Given the description of an element on the screen output the (x, y) to click on. 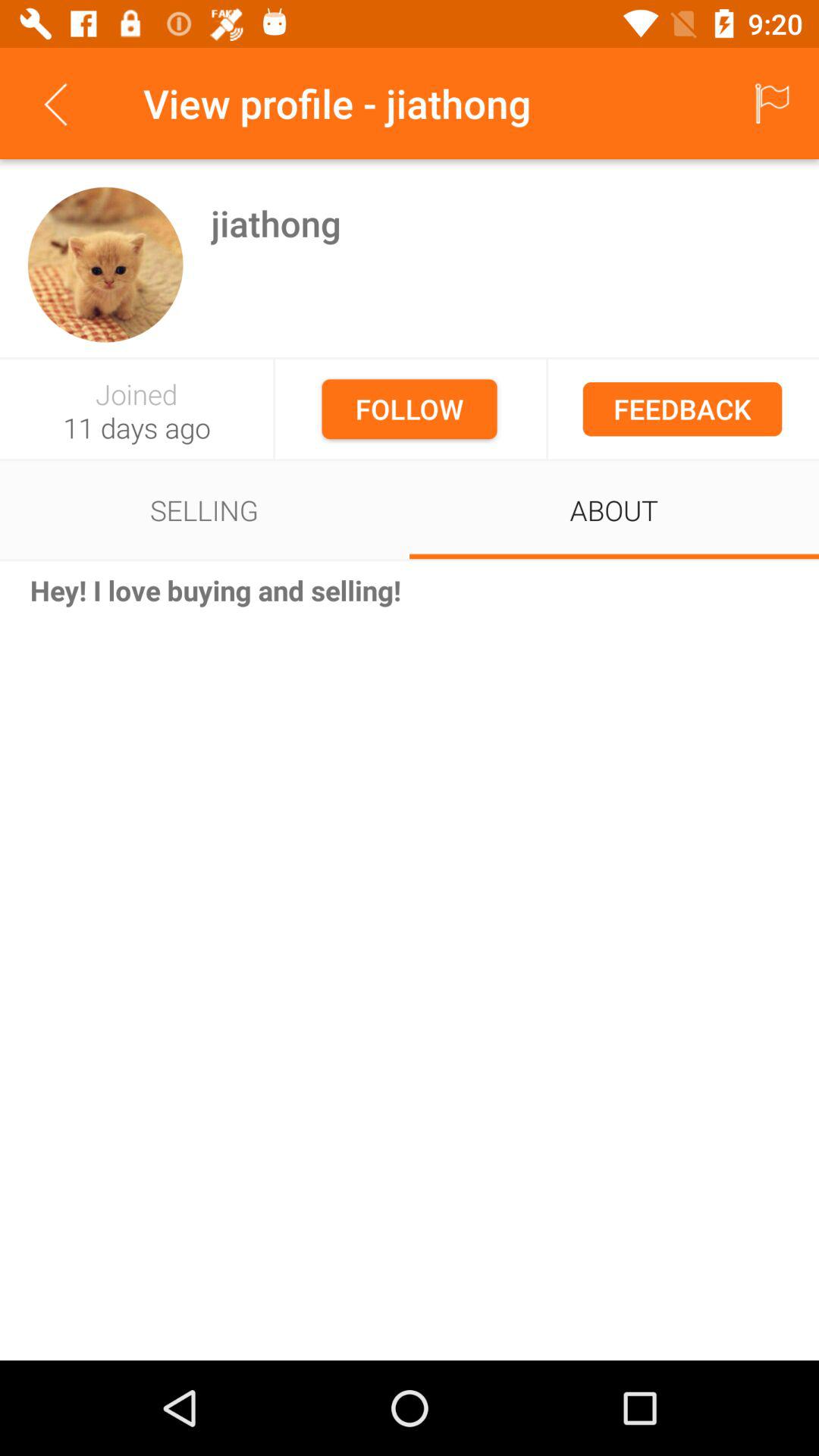
open icon to the left of the jiathong item (105, 264)
